Given the description of an element on the screen output the (x, y) to click on. 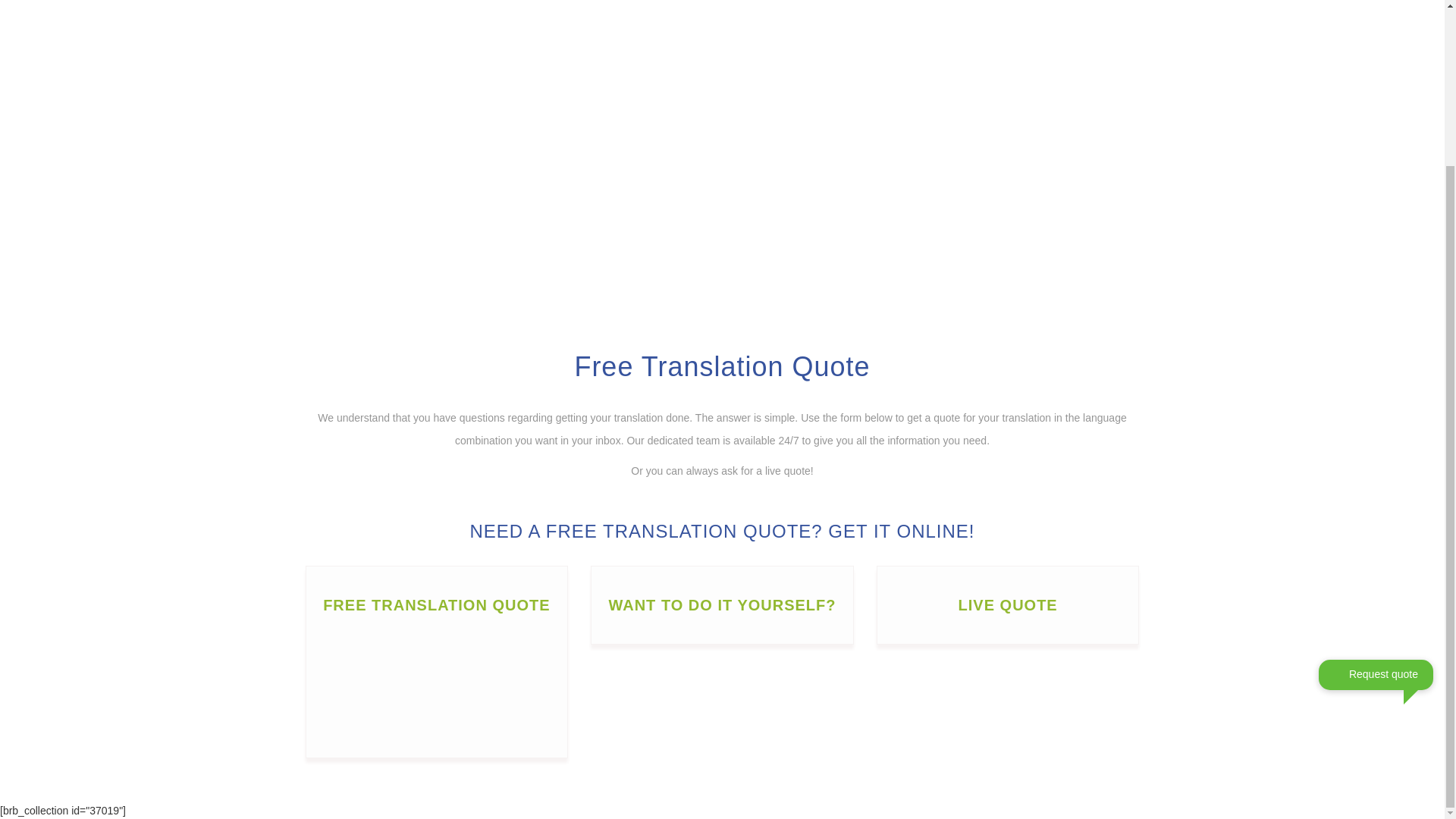
5-min-quote (436, 685)
